Given the description of an element on the screen output the (x, y) to click on. 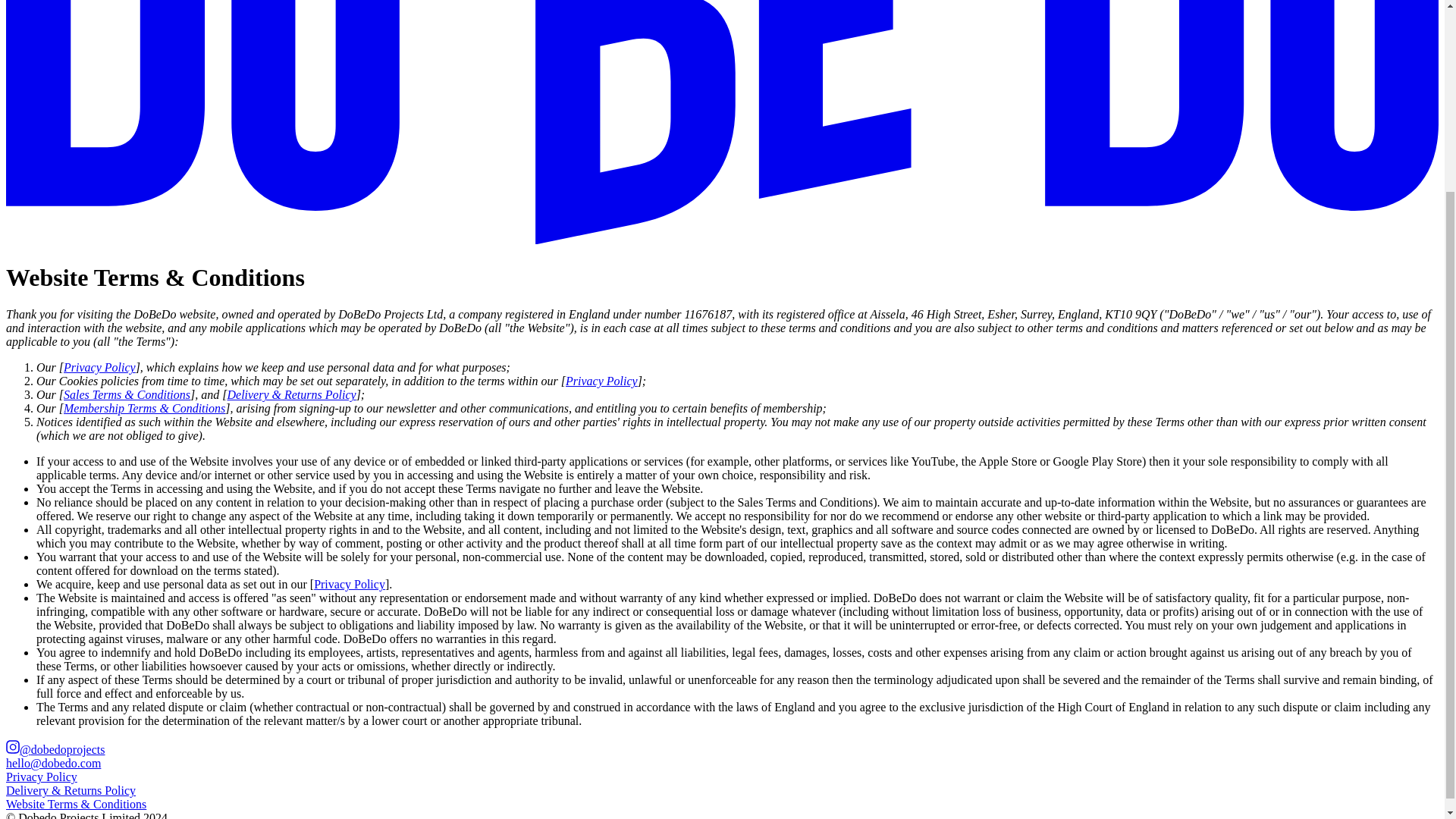
Privacy Policy (349, 584)
Privacy Policy (99, 367)
Privacy Policy (601, 380)
Privacy Policy (41, 776)
